Given the description of an element on the screen output the (x, y) to click on. 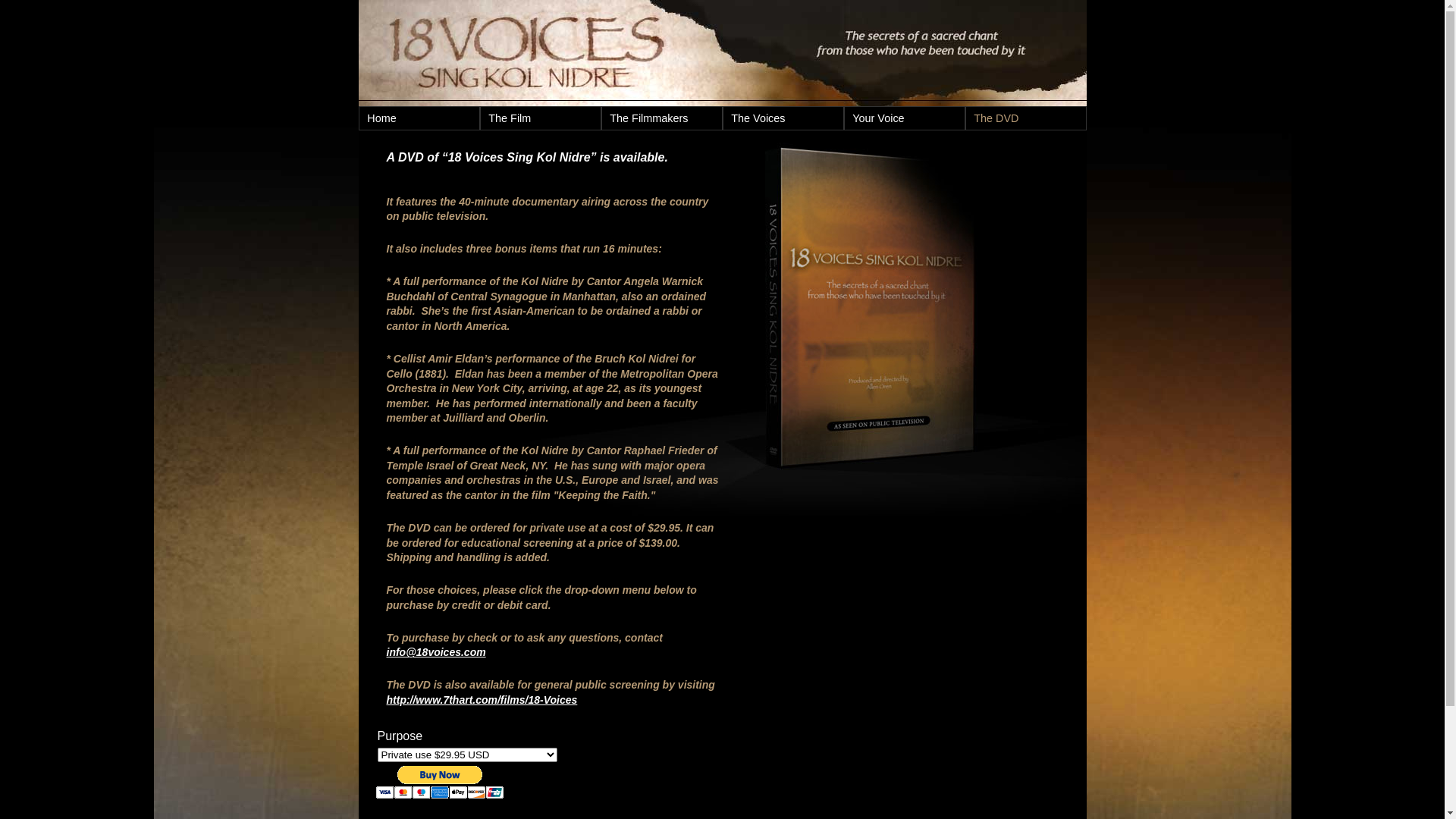
http://www.7thart.com/films/18-Voices Element type: text (481, 699)
The Voices Element type: text (783, 117)
info@18voices.com Element type: text (436, 652)
Home Element type: text (419, 117)
The Filmmakers Element type: text (661, 117)
The DVD Element type: text (1025, 117)
Your Voice Element type: text (904, 117)
The Film Element type: text (540, 117)
